Given the description of an element on the screen output the (x, y) to click on. 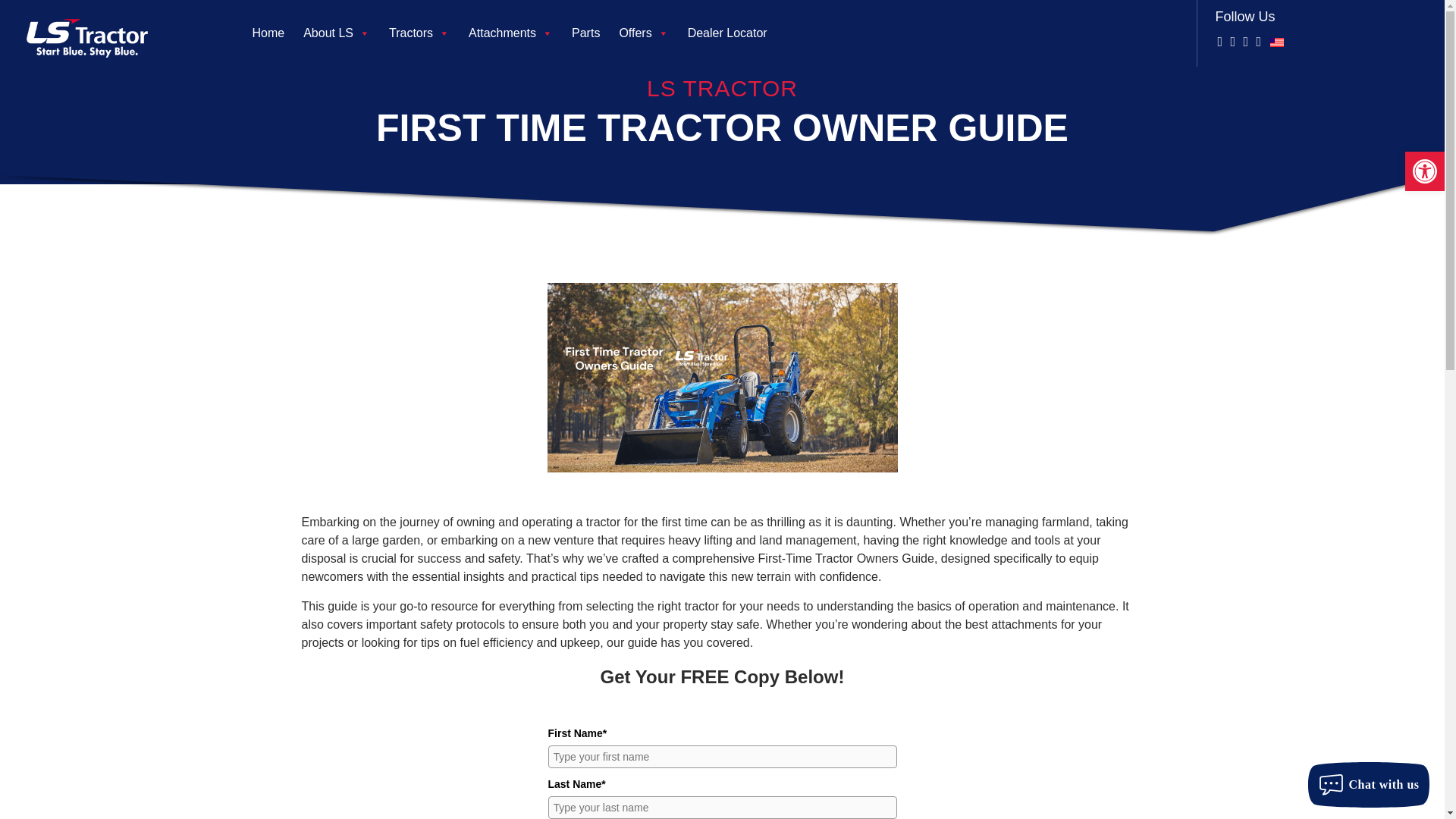
Accessibility Tools (1424, 170)
Tractors (428, 33)
About LS (345, 33)
